Given the description of an element on the screen output the (x, y) to click on. 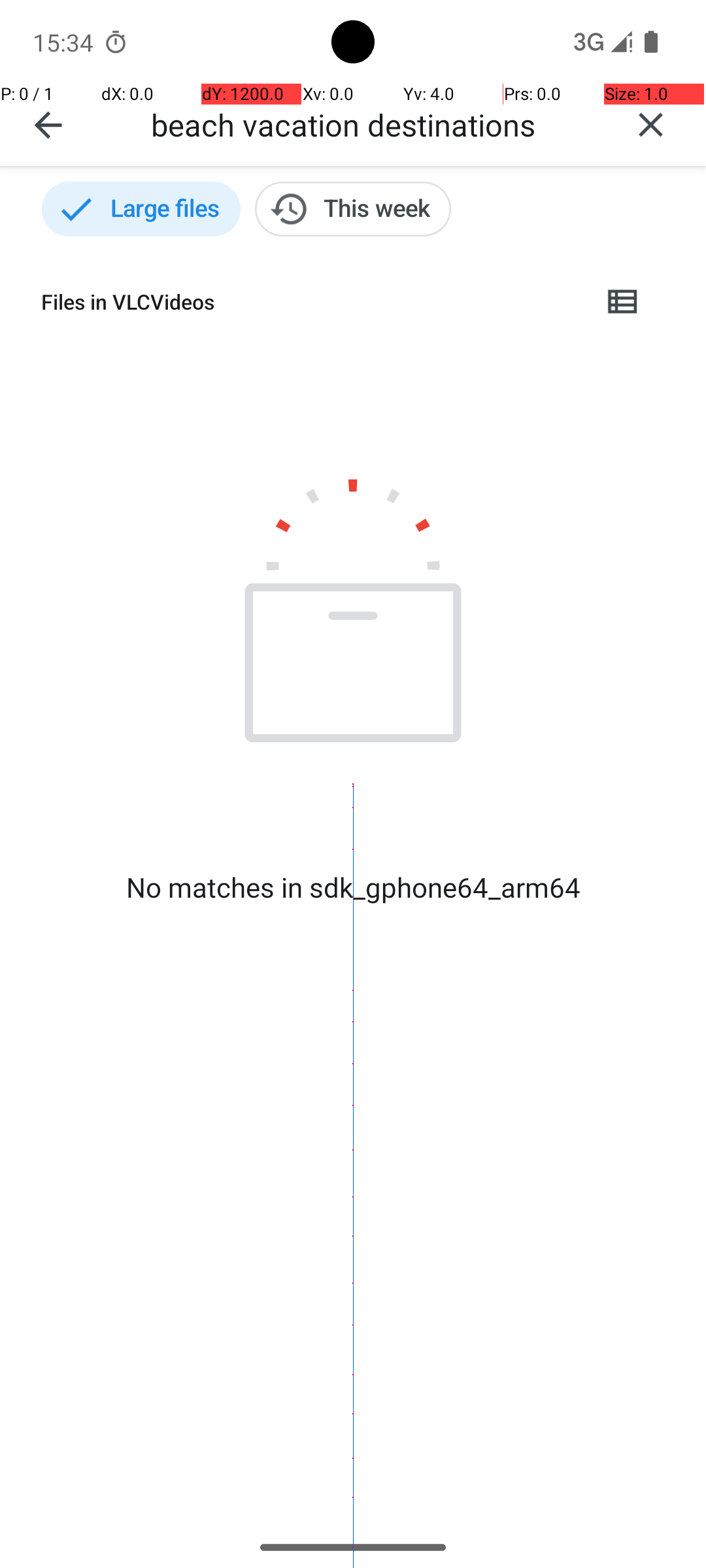
Files in VLCVideos Element type: android.widget.TextView (311, 301)
beach vacation destinations Element type: android.widget.AutoCompleteTextView (373, 124)
No matches in sdk_gphone64_arm64 Element type: android.widget.TextView (352, 886)
